Given the description of an element on the screen output the (x, y) to click on. 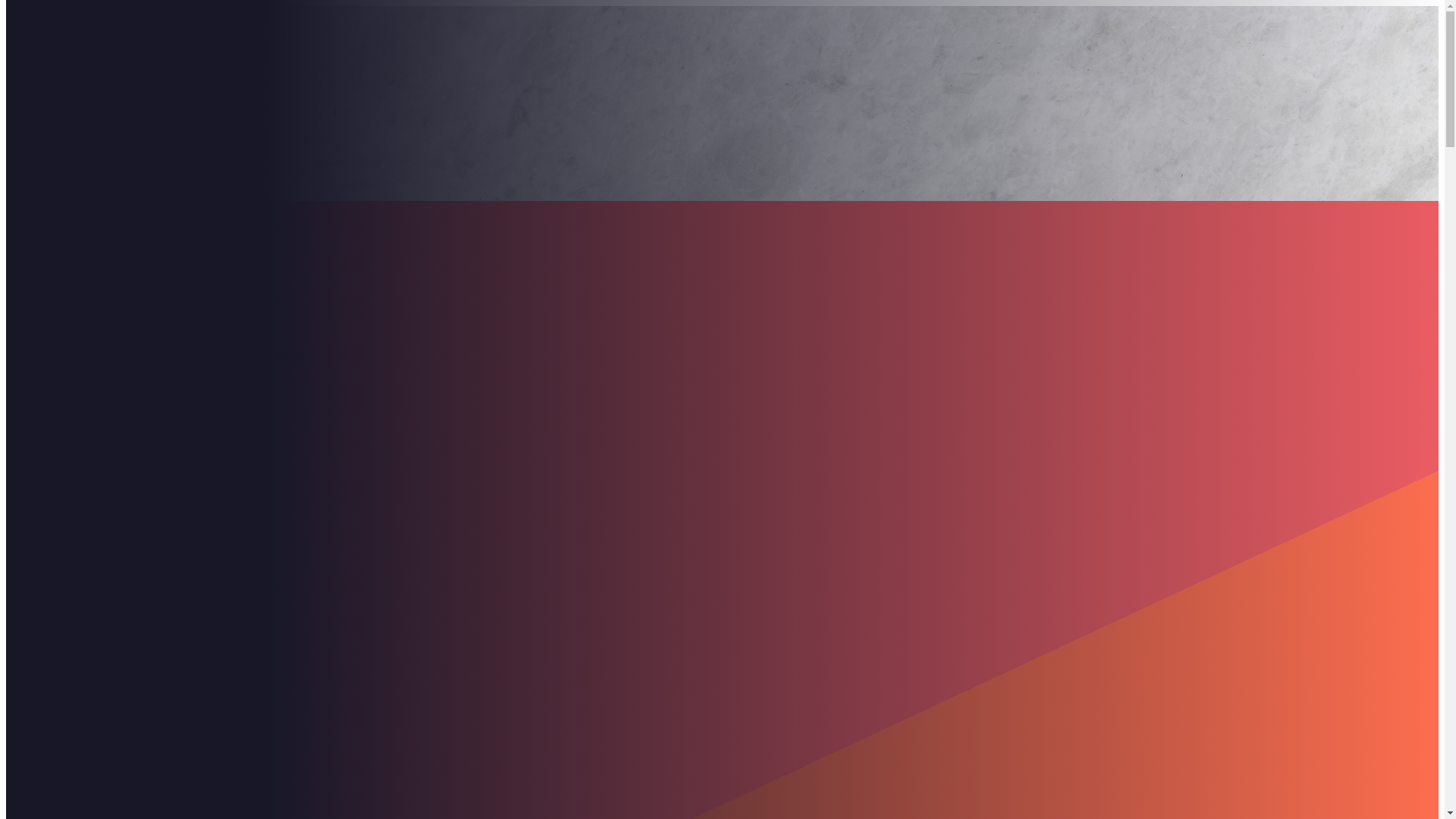
BABY & CHILDREN Element type: text (123, 709)
MONUMENTS Element type: text (107, 655)
enquiry@hallettstone.com.au Element type: text (229, 353)
PRE-NEED MONUMENTS Element type: text (139, 668)
CRYPT SHUTTERS Element type: text (120, 315)
ORTHODOX Element type: text (102, 764)
CHINESE & VIETNAMESE Element type: text (142, 410)
CULTURAL Element type: text (69, 737)
OTHER Element type: text (88, 424)
SERVICES Element type: text (81, 438)
MEMORIALS Element type: text (74, 627)
JEWISH Element type: text (89, 750)
STONE Element type: text (71, 533)
(03) 9357 1500 Element type: text (156, 319)
HOME Element type: text (55, 600)
CRYPT SHUTTERS Element type: text (120, 696)
PLAQUES Element type: text (95, 682)
PLAQUES Element type: text (95, 301)
STONEWORK Element type: text (106, 506)
ABOUT US Element type: text (66, 614)
LASER ETCHING Element type: text (116, 465)
JEWISH Element type: text (89, 370)
BABY & CHILDREN Element type: text (123, 329)
HEADSTONES Element type: text (107, 641)
HEADSTONES Element type: text (107, 260)
ORTHODOX Element type: text (102, 383)
OTHER Element type: text (88, 805)
ABOUT US Element type: text (82, 233)
CHINESE & VIETNAMESE Element type: text (142, 791)
CANDLES Element type: text (80, 547)
HOME Element type: text (70, 219)
ISLAMIC Element type: text (92, 777)
MONUMENT CLEANING Element type: text (138, 520)
CONTACT Element type: text (81, 574)
TESTIMONIALS Element type: text (98, 561)
TEMPORARY MARKERS Element type: text (138, 723)
CULTURAL Element type: text (84, 356)
INSCRIPTIONS Element type: text (110, 451)
RENOVATIONS Element type: text (110, 492)
HAND ETCHING Element type: text (114, 479)
0417 569 003 Element type: text (194, 335)
MEMORIALS Element type: text (90, 247)
TEMPORARY MARKERS Element type: text (138, 342)
PRE-NEED MONUMENTS Element type: text (139, 288)
MONUMENTS Element type: text (107, 274)
ISLAMIC Element type: text (92, 397)
